Given the description of an element on the screen output the (x, y) to click on. 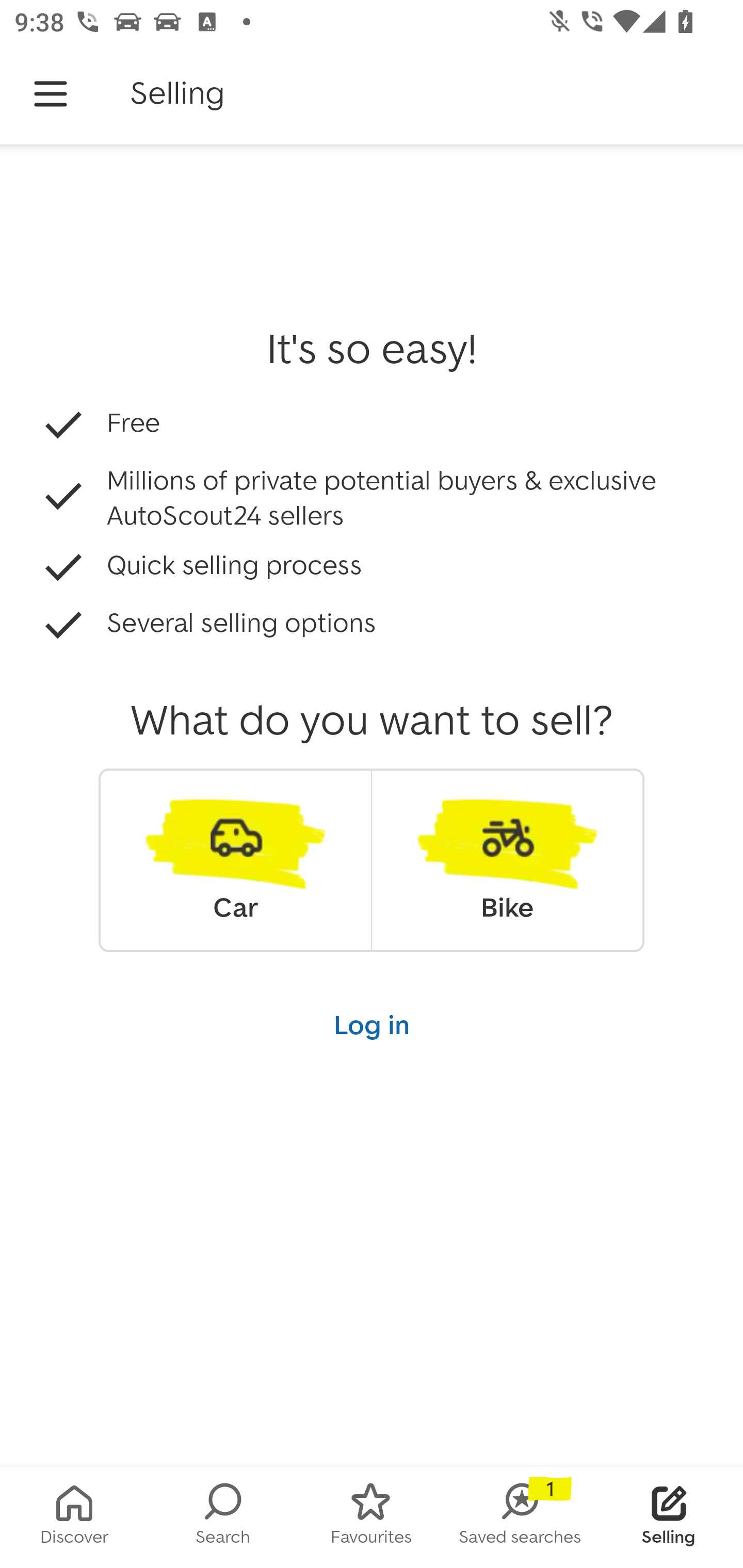
Navigate up (50, 93)
Car (235, 859)
Bike (507, 859)
Log in (371, 1024)
HOMESCREEN Discover (74, 1517)
SEARCH Search (222, 1517)
FAVORITES Favourites (371, 1517)
SAVED_SEARCHES Saved searches 1 (519, 1517)
STOCK_LIST Selling (668, 1517)
